Given the description of an element on the screen output the (x, y) to click on. 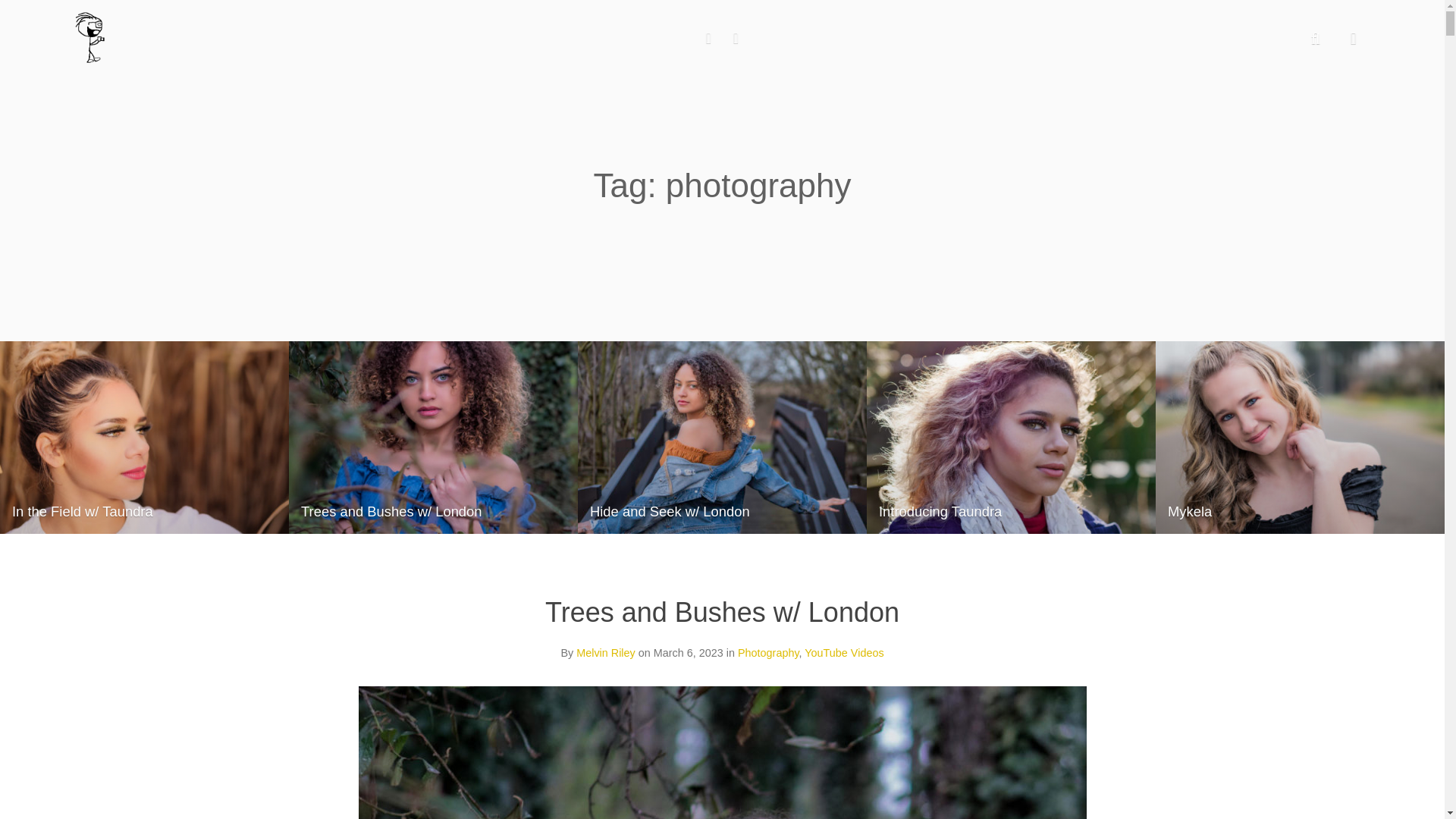
youtube (735, 37)
insta (708, 37)
